Given the description of an element on the screen output the (x, y) to click on. 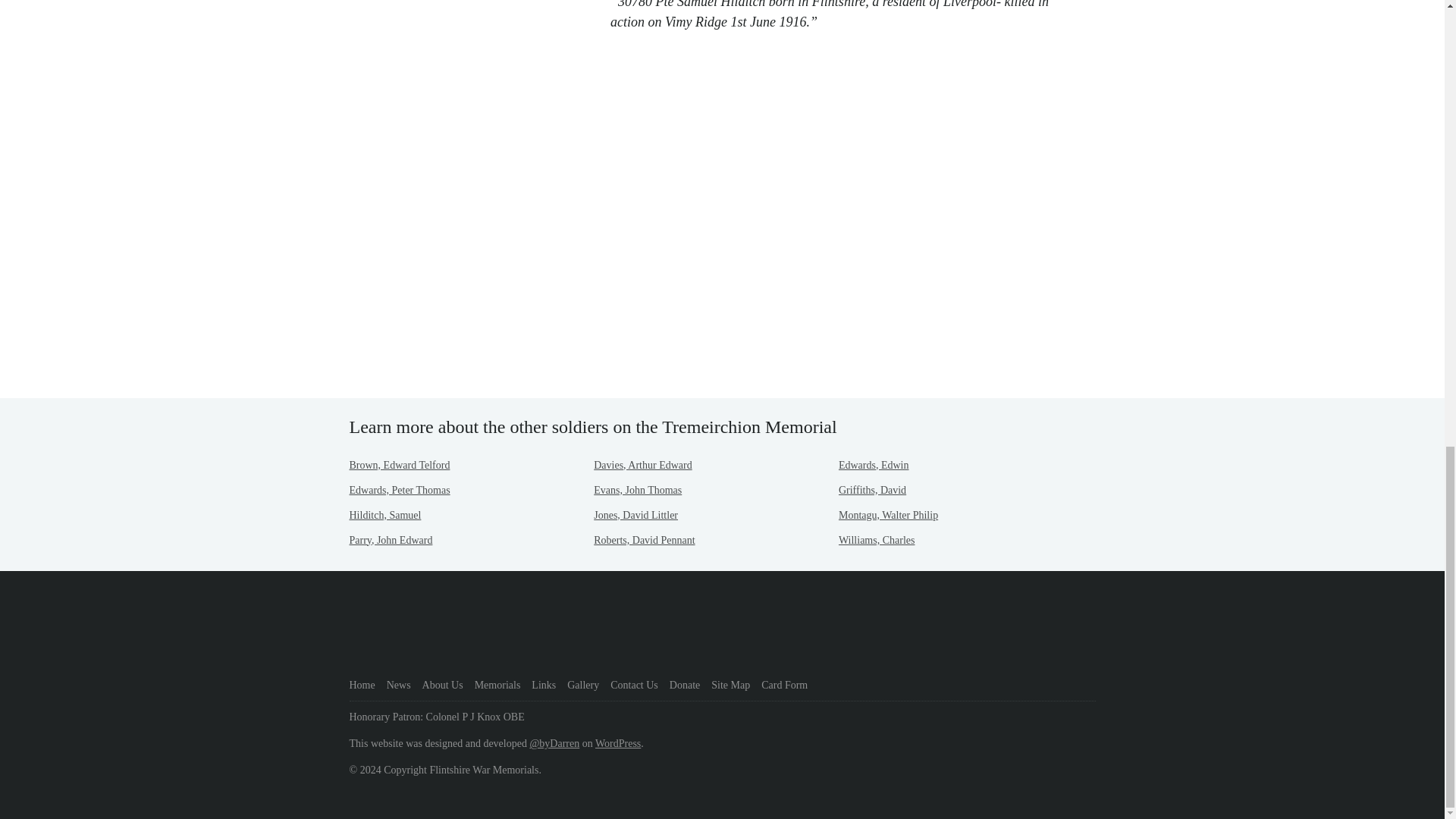
Parry, John Edward (390, 540)
Roberts, David Pennant (644, 540)
Griffiths, David (871, 490)
Gallery (582, 685)
WordPress (617, 743)
Davies, Arthur Edward (642, 464)
Montagu, Walter Philip (887, 514)
Brown, Edward Telford (399, 464)
Card Form (784, 685)
Contact Us (634, 685)
